Given the description of an element on the screen output the (x, y) to click on. 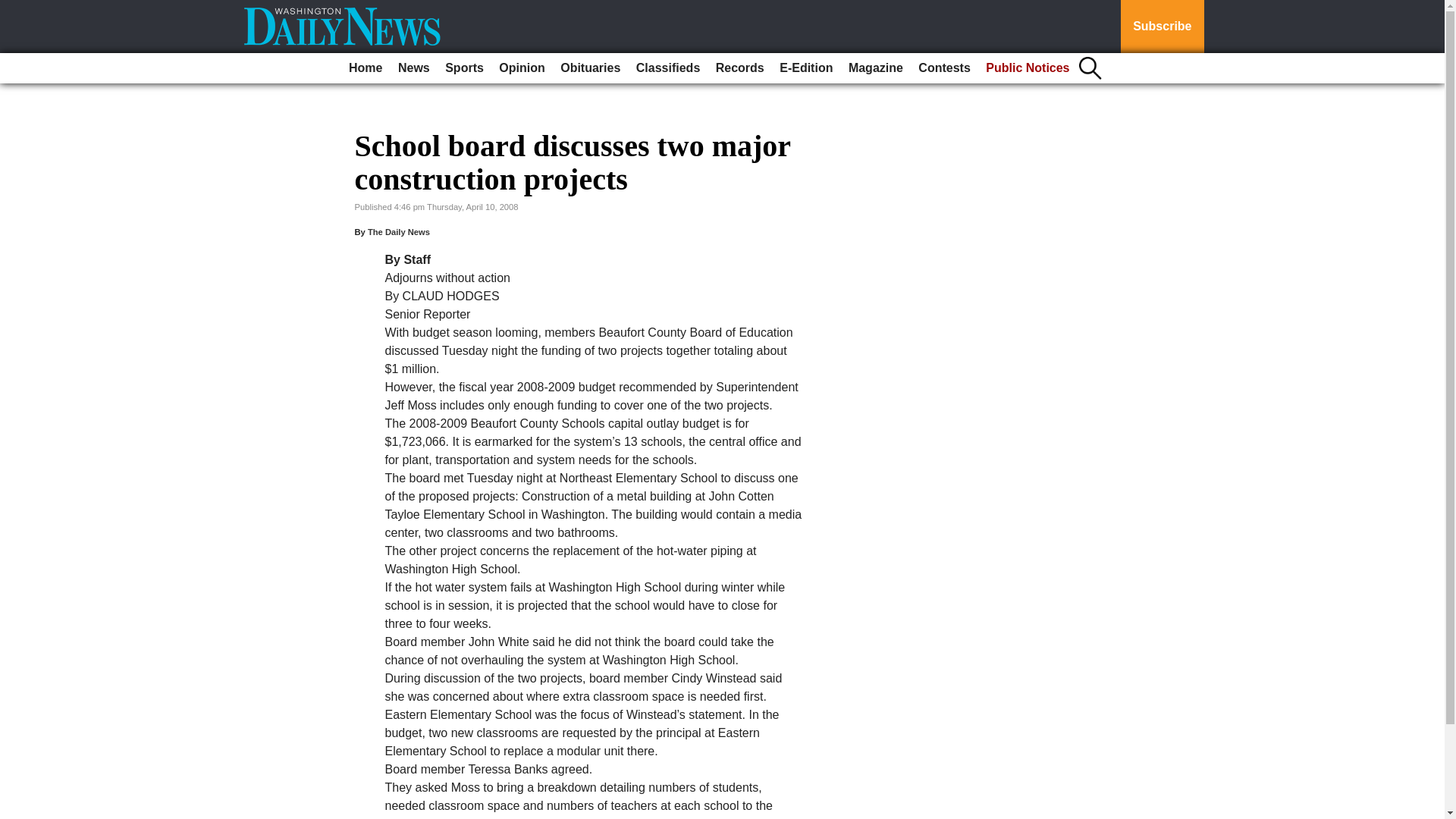
Subscribe (1162, 26)
Contests (943, 68)
Home (365, 68)
Opinion (521, 68)
E-Edition (805, 68)
Records (740, 68)
Classifieds (668, 68)
Go (13, 9)
News (413, 68)
Sports (464, 68)
